Given the description of an element on the screen output the (x, y) to click on. 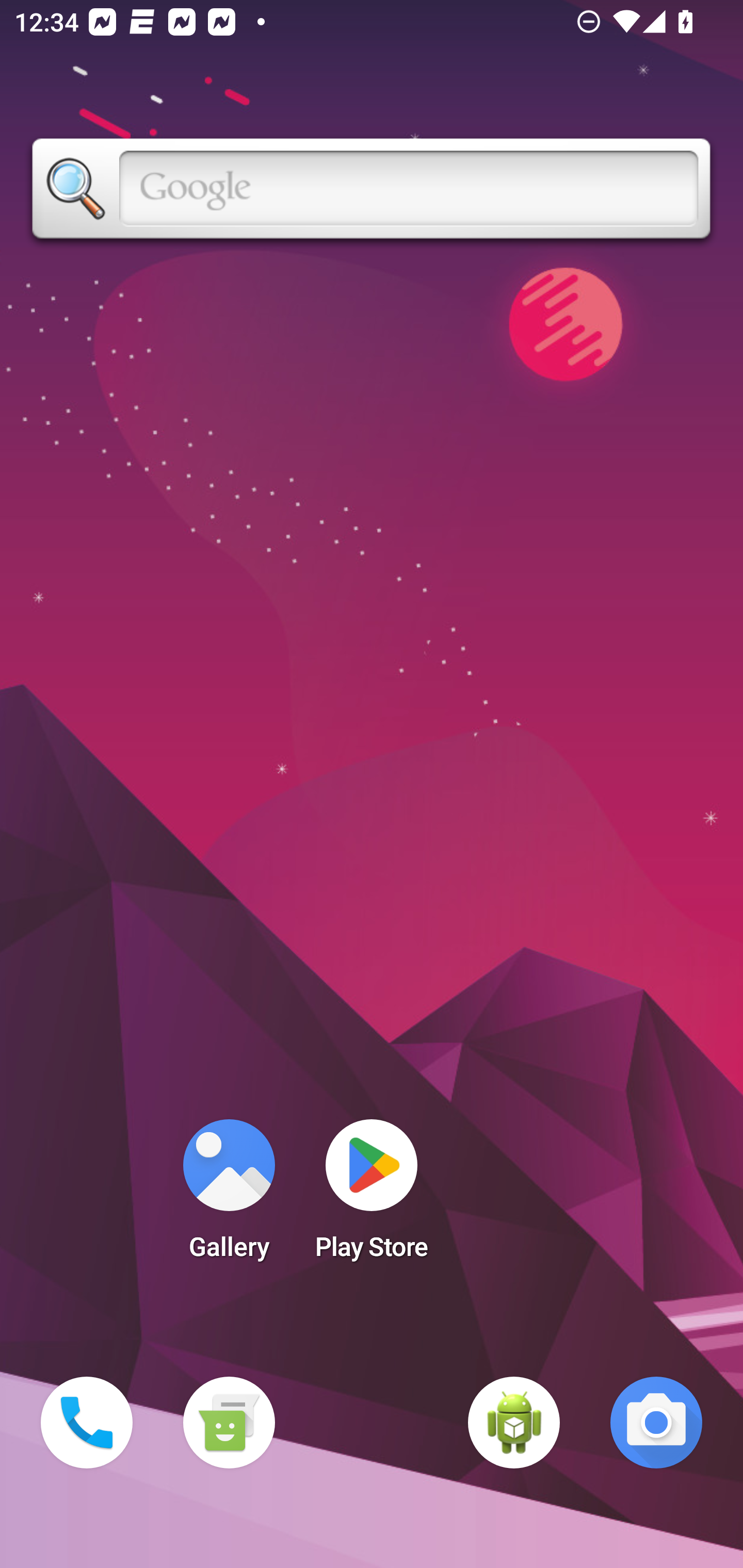
Gallery (228, 1195)
Play Store (371, 1195)
Phone (86, 1422)
Messaging (228, 1422)
WebView Browser Tester (513, 1422)
Camera (656, 1422)
